Given the description of an element on the screen output the (x, y) to click on. 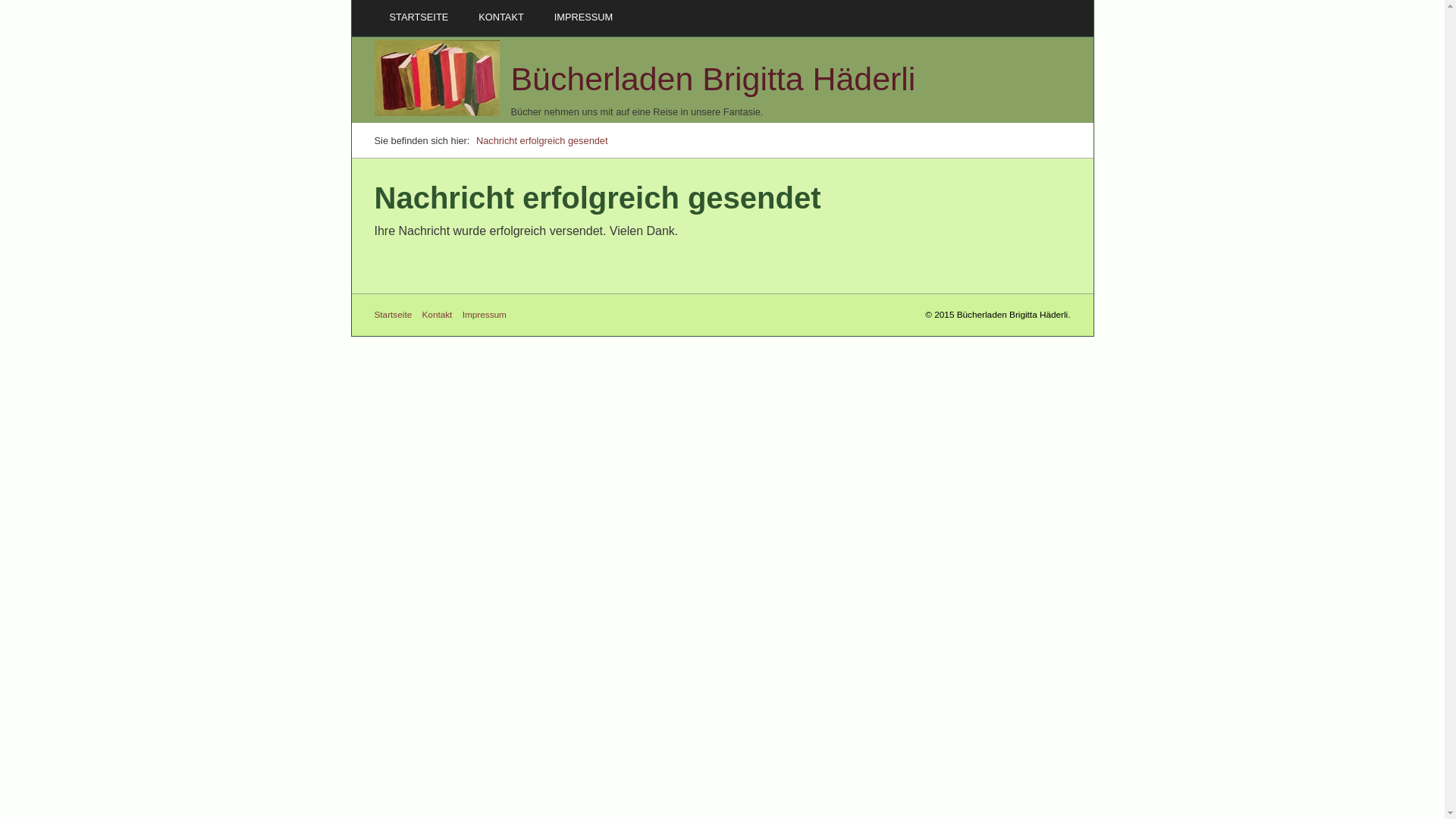
KONTAKT Element type: text (501, 17)
Kontakt Element type: text (440, 314)
IMPRESSUM Element type: text (583, 17)
Startseite Element type: text (397, 314)
Nachricht erfolgreich gesendet Element type: text (541, 140)
STARTSEITE Element type: text (419, 17)
Impressum Element type: text (488, 314)
